Given the description of an element on the screen output the (x, y) to click on. 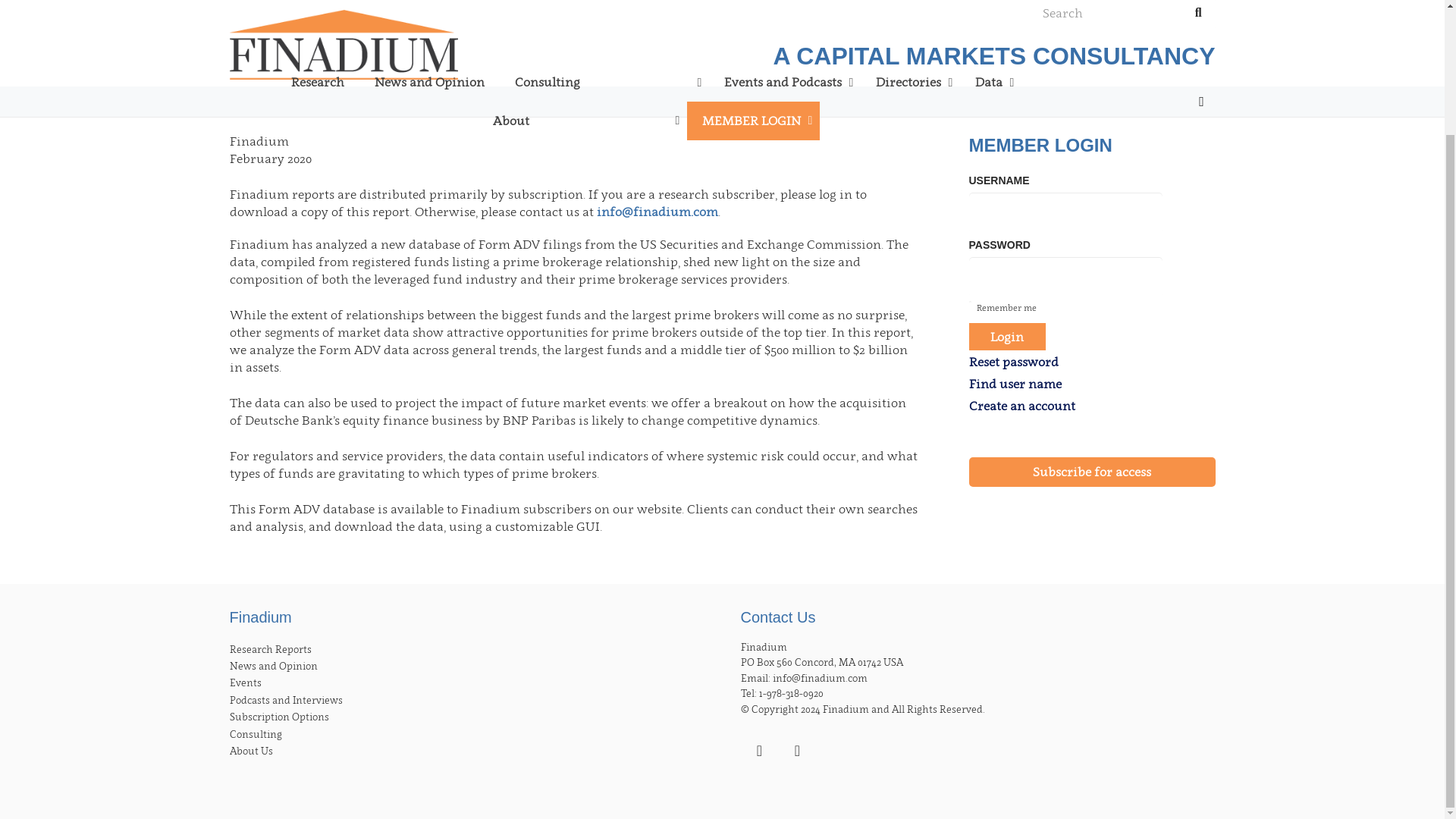
Login (1007, 335)
LinkedIn (758, 751)
Login (865, 246)
RSS (796, 751)
